Given the description of an element on the screen output the (x, y) to click on. 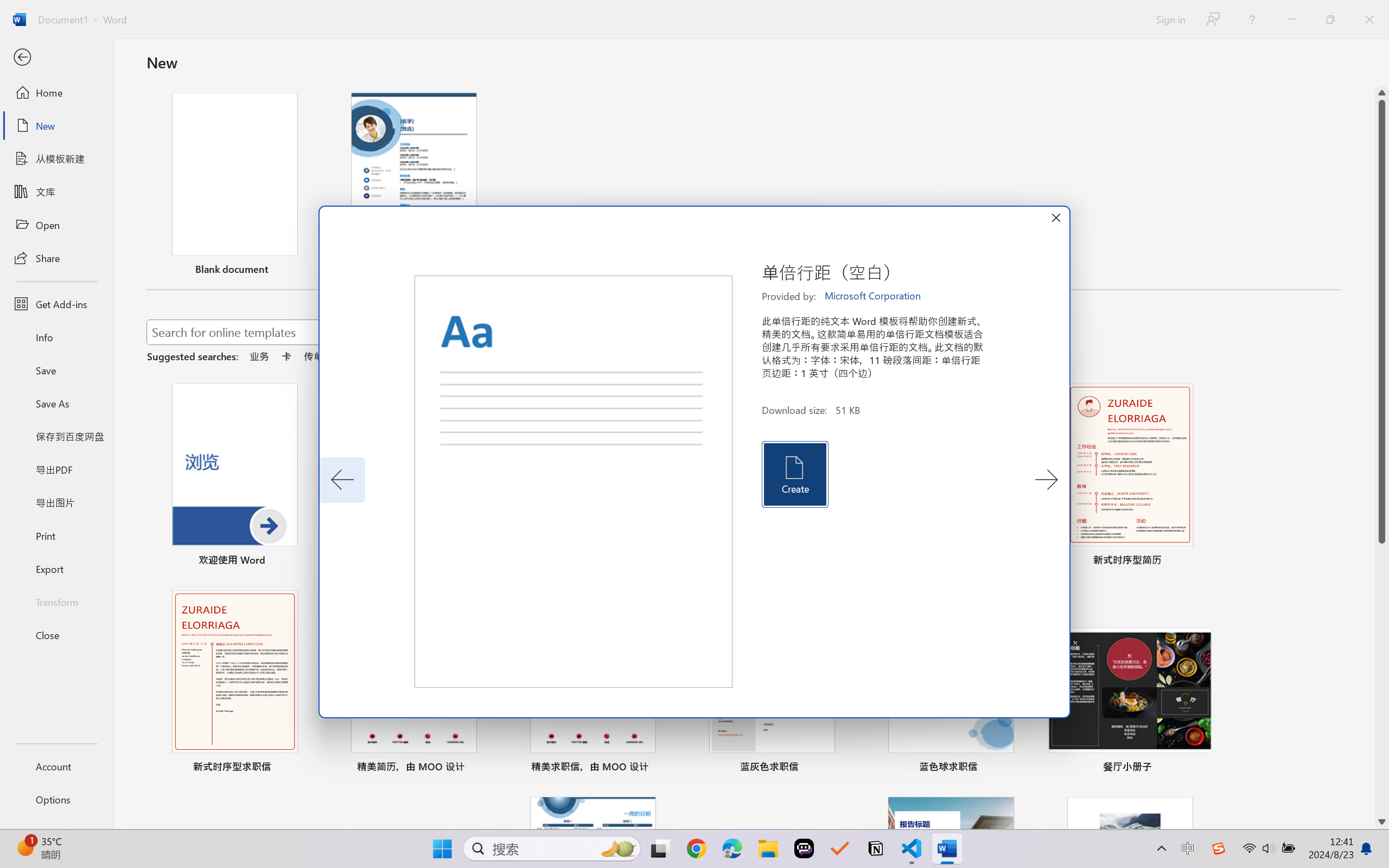
Preview (573, 481)
Account (56, 765)
